Given the description of an element on the screen output the (x, y) to click on. 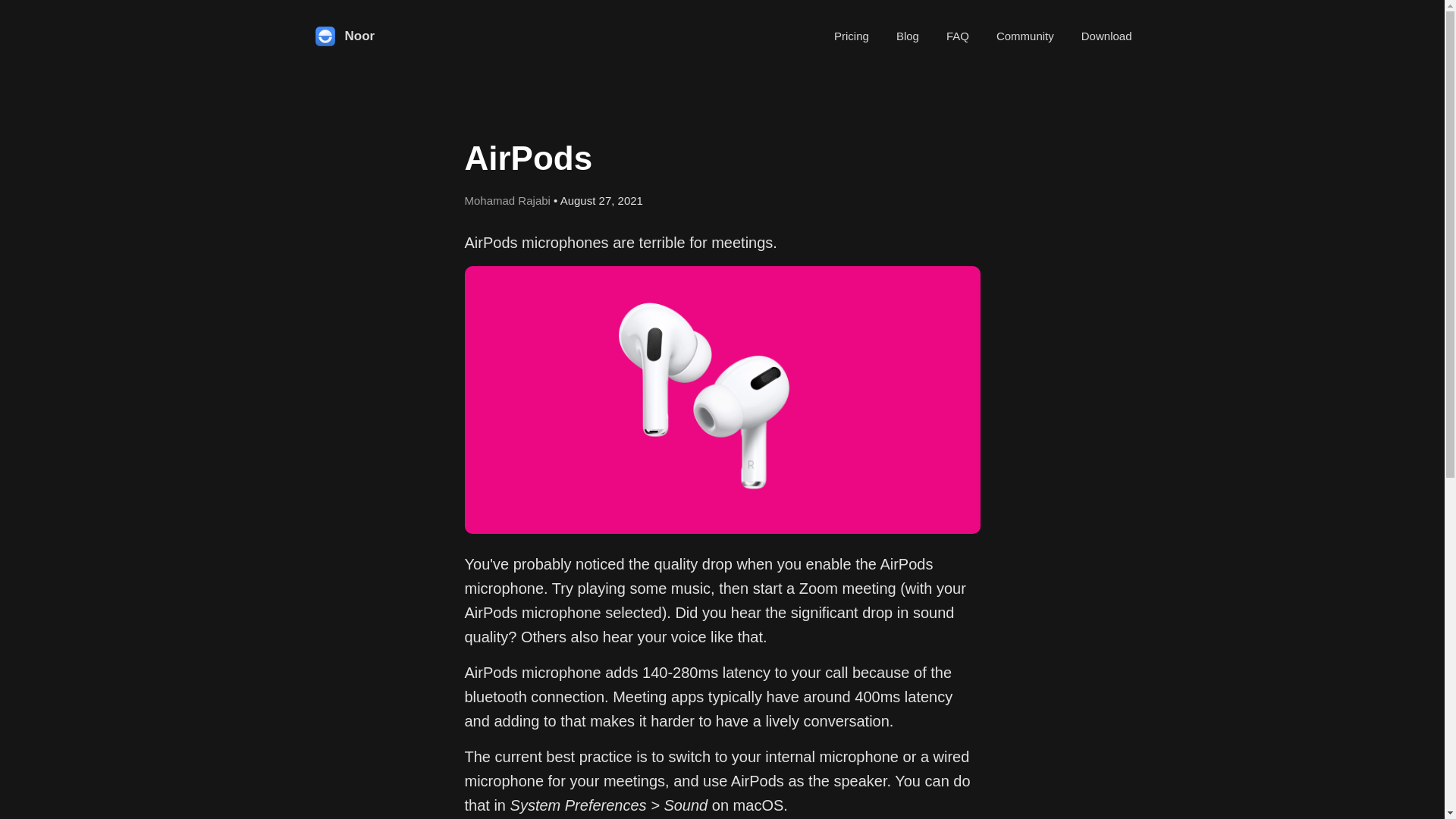
Mohamad Rajabi (507, 200)
Blog (907, 35)
FAQ (957, 35)
Noor (343, 36)
Pricing (851, 35)
Download (1106, 35)
Community (1024, 35)
